Given the description of an element on the screen output the (x, y) to click on. 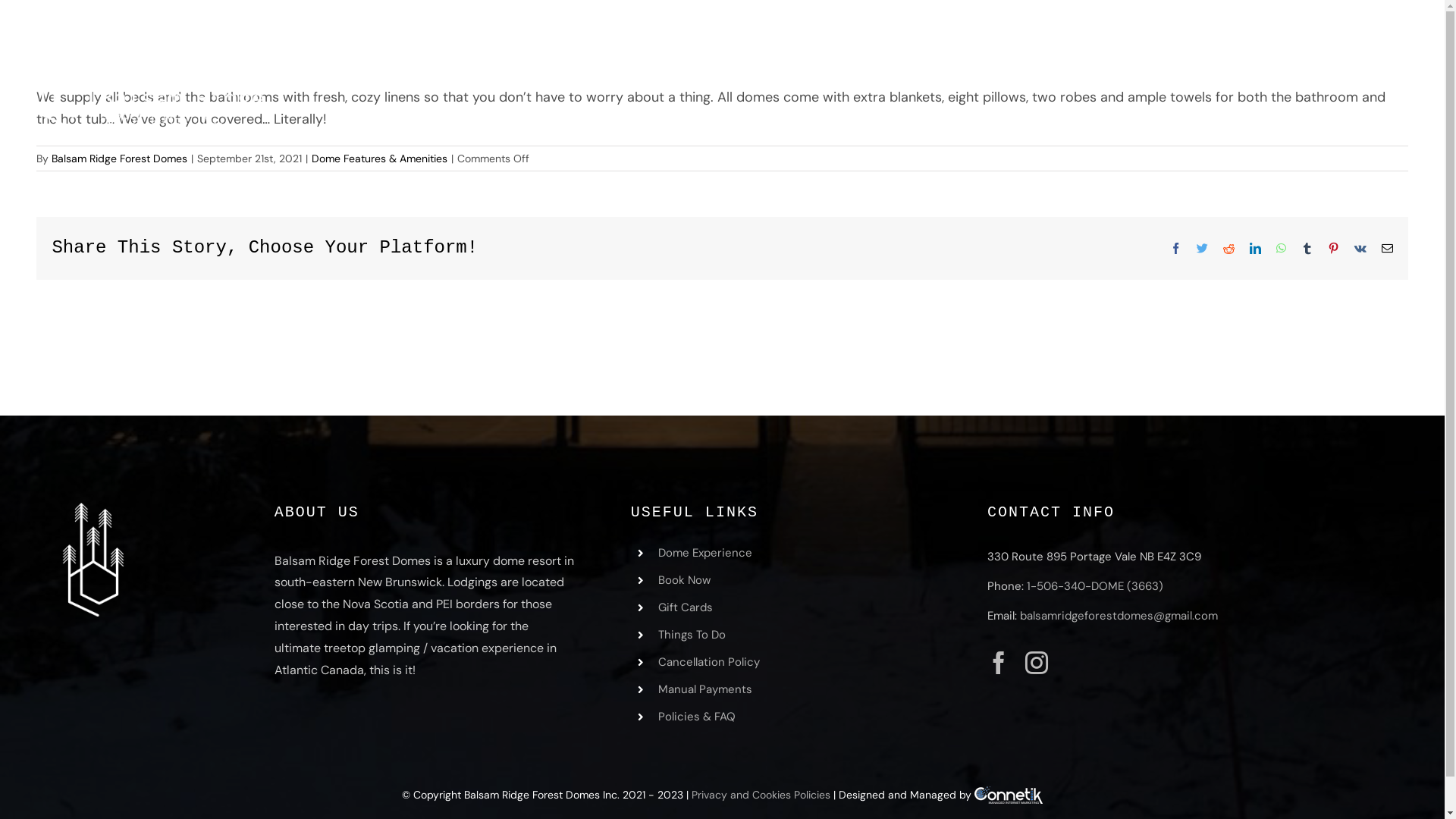
Manual Payments Element type: text (705, 688)
Reservations Element type: text (1171, 34)
Pinterest Element type: text (1333, 248)
Book Now Element type: text (684, 579)
Contact Us Element type: text (1377, 34)
Facebook Element type: text (1175, 248)
balsamridgeforestdomes@gmail.com Element type: text (1118, 615)
Gift Cards Element type: text (685, 607)
Twitter Element type: text (1202, 248)
Things To Do Element type: text (691, 634)
Dome Experience Element type: text (1038, 34)
balsam-favicon Element type: hover (93, 559)
Dome Experience Element type: text (705, 552)
Email Element type: text (1387, 248)
Privacy and Cookies Policies Element type: text (760, 794)
Reddit Element type: text (1228, 248)
1-506-340-DOME (3663) Element type: text (1094, 585)
Policies & FAQ Element type: text (696, 716)
WhatsApp Element type: text (1281, 248)
Dome Features & Amenities Element type: text (379, 158)
Balsam Ridge Forest Domes Element type: text (119, 158)
Cancellation Policy Element type: text (708, 661)
LinkedIn Element type: text (1255, 248)
Home Element type: text (932, 34)
Vk Element type: text (1360, 248)
About Us Element type: text (1280, 34)
Tumblr Element type: text (1306, 248)
